Given the description of an element on the screen output the (x, y) to click on. 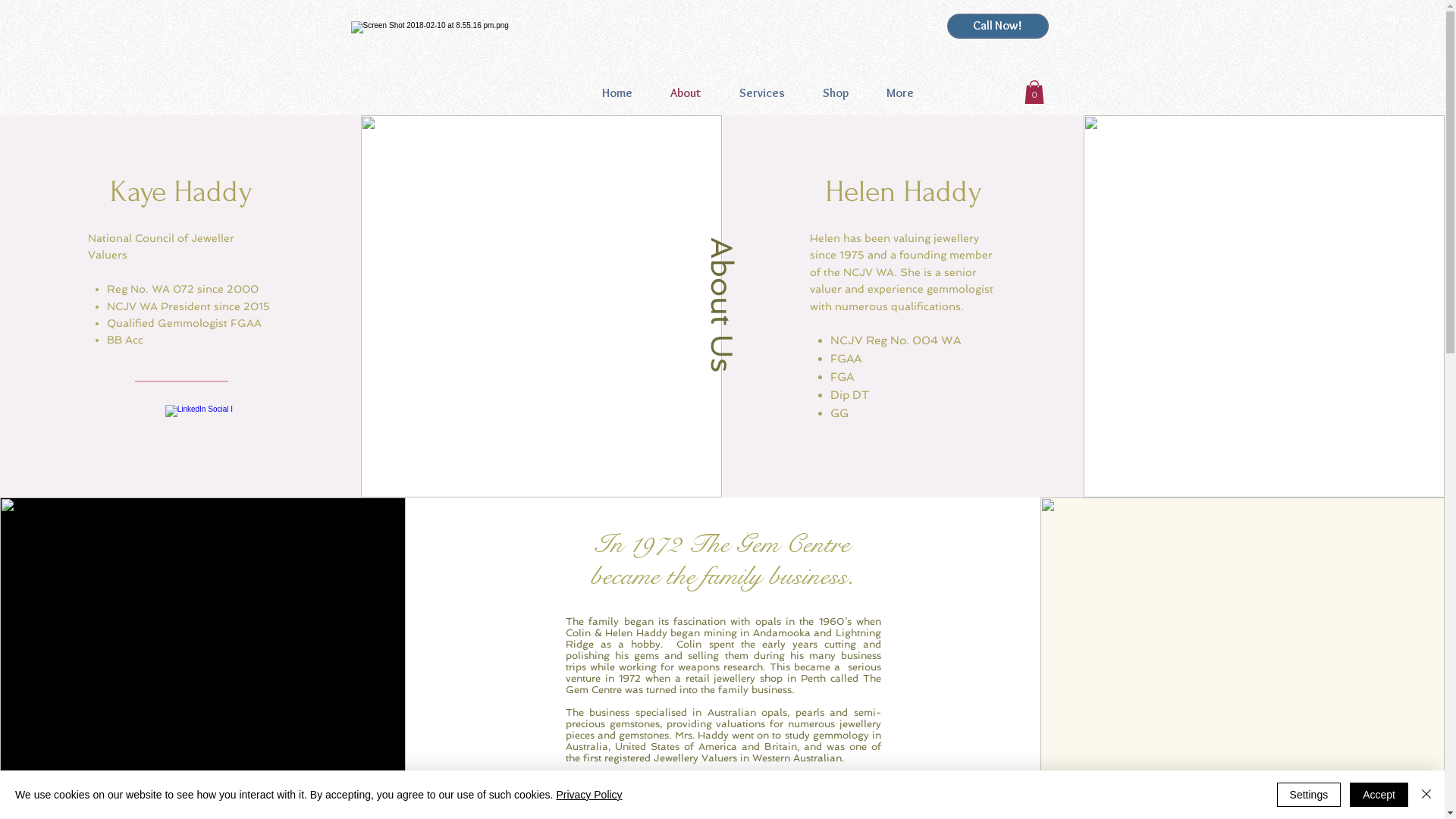
Services Element type: text (761, 92)
Shop Element type: text (835, 92)
Call Now! Element type: text (997, 25)
Accept Element type: text (1378, 794)
Privacy Policy Element type: text (588, 794)
Home Element type: text (616, 92)
0 Element type: text (1033, 91)
About Element type: text (684, 92)
Settings Element type: text (1309, 794)
